Given the description of an element on the screen output the (x, y) to click on. 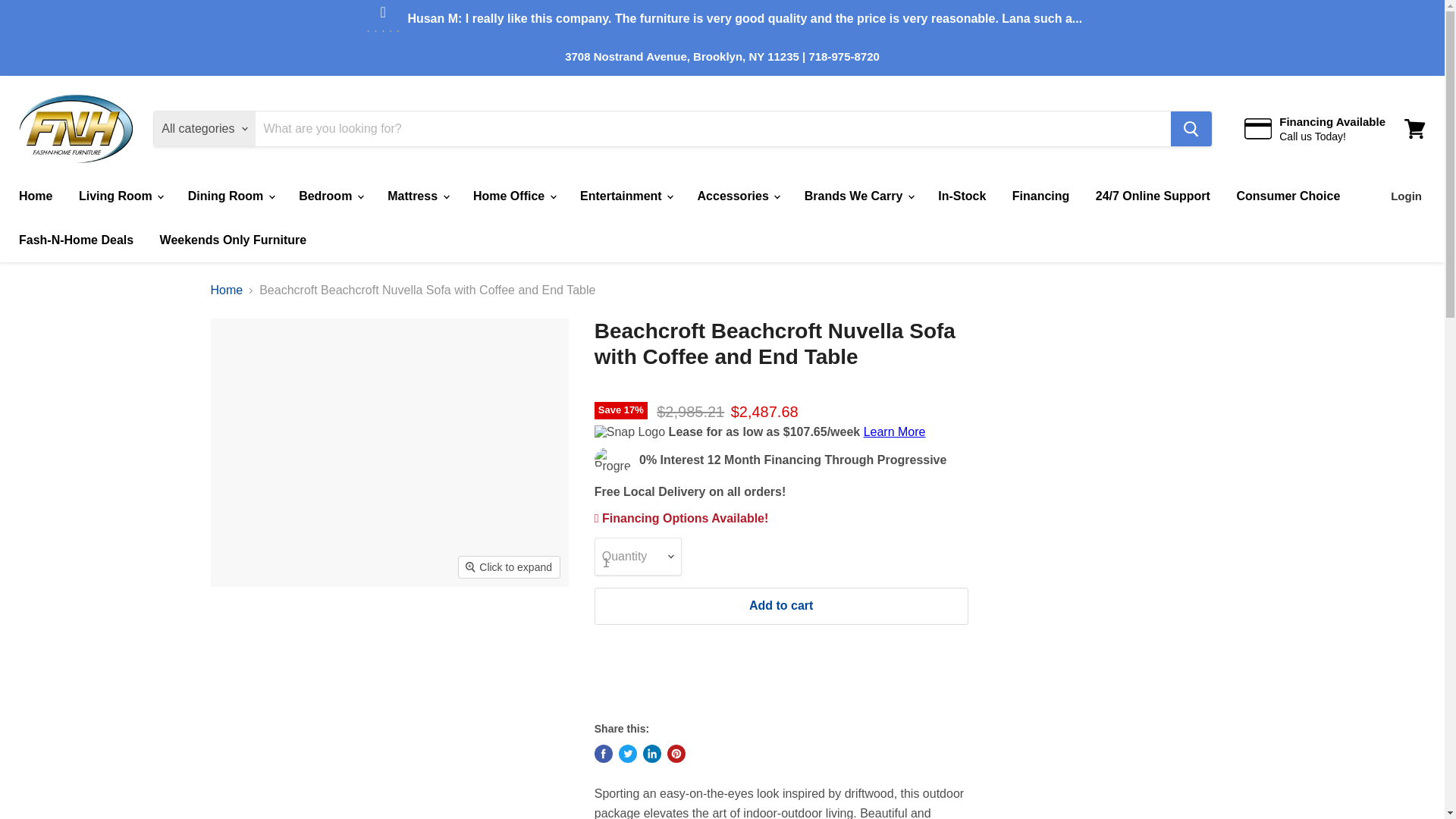
View cart (1414, 128)
Home (35, 196)
Living Room (119, 196)
Dining Room (229, 196)
